Given the description of an element on the screen output the (x, y) to click on. 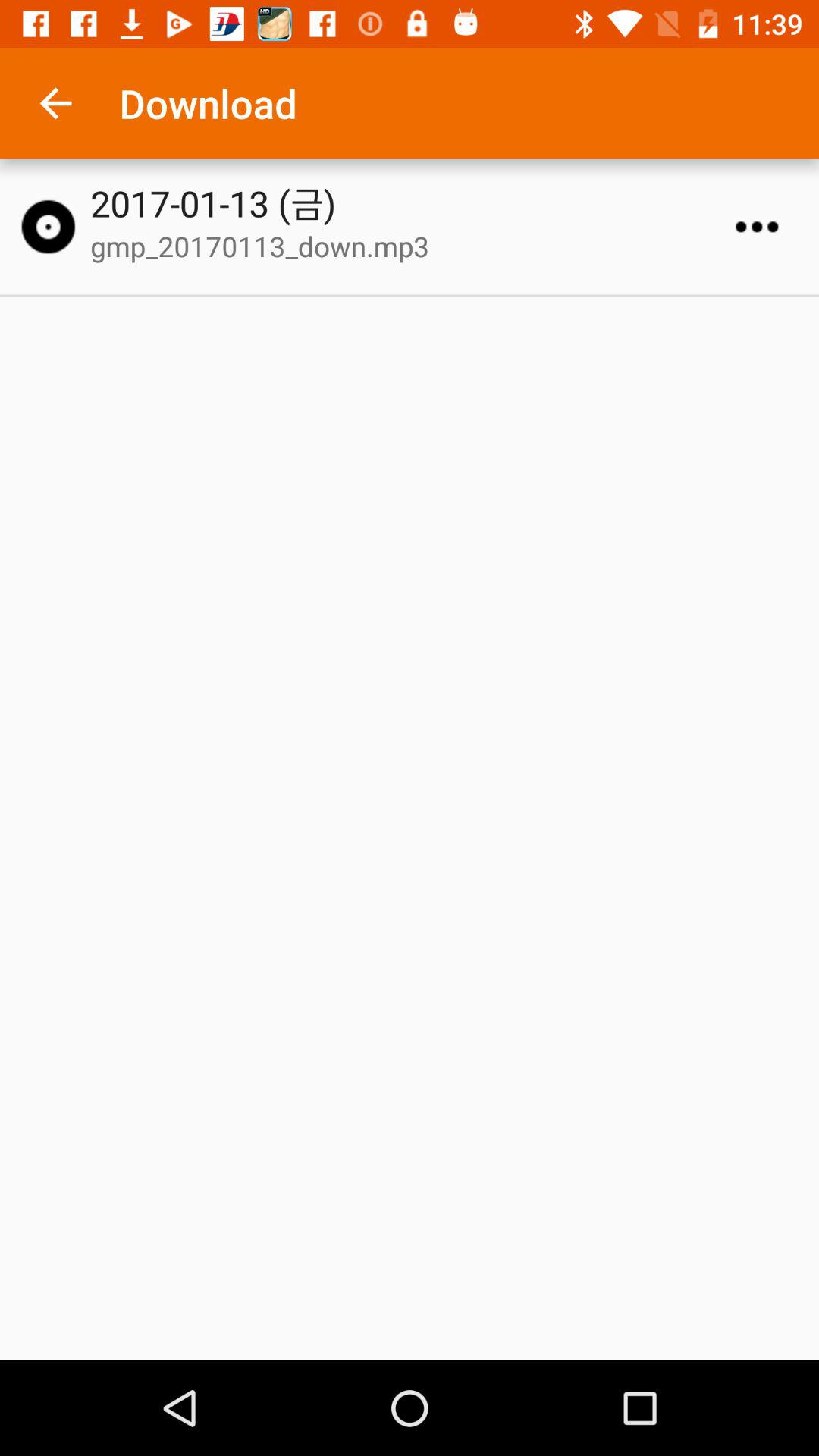
more options to download or delete file (756, 226)
